Given the description of an element on the screen output the (x, y) to click on. 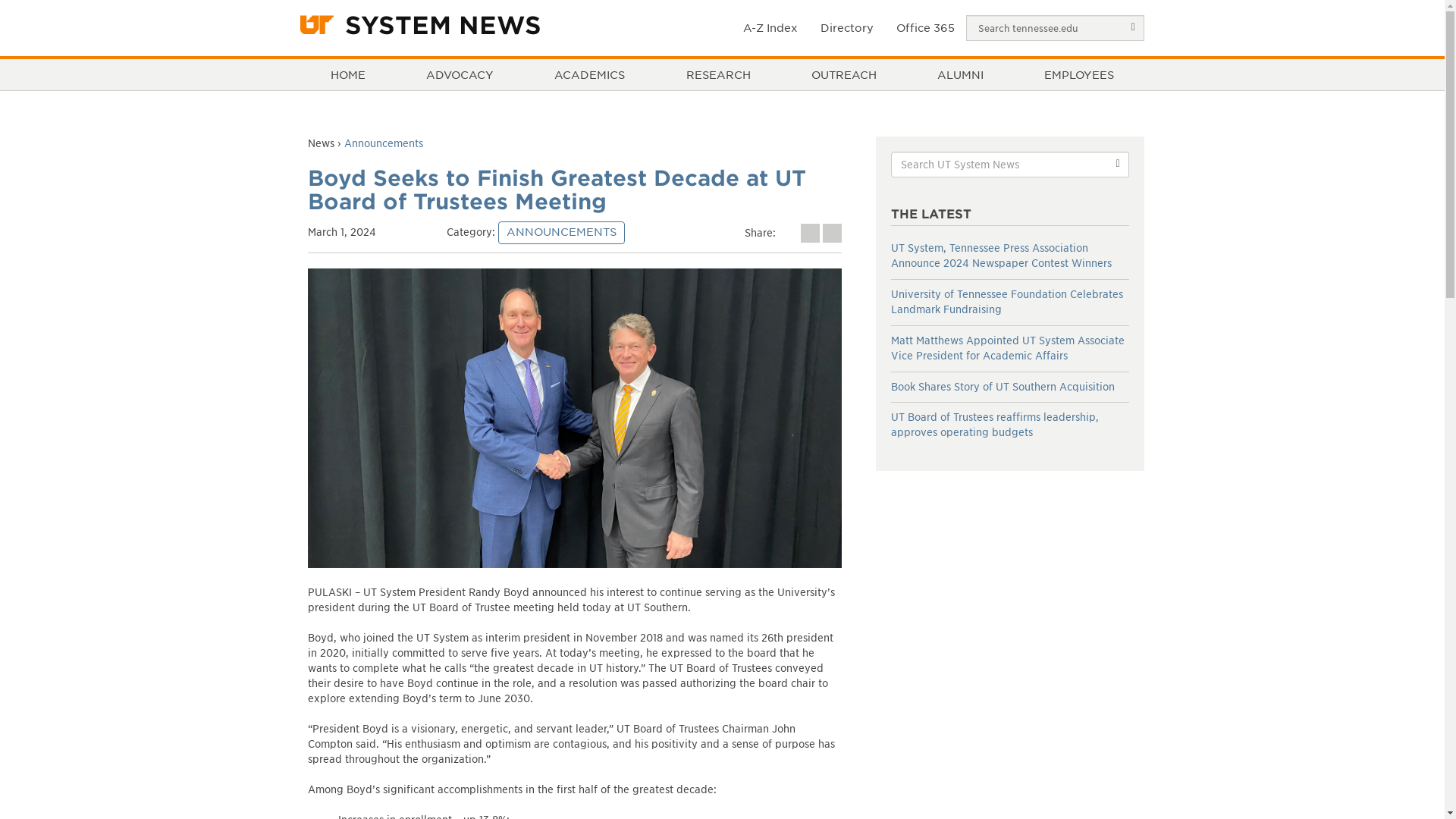
Announcements (383, 143)
OUTREACH (843, 74)
ADVOCACY (460, 74)
Book Shares Story of UT Southern Acquisition (1003, 386)
Directory (847, 27)
Outreach (843, 74)
 Search tennessee.edu (1055, 27)
Alumni (960, 74)
Search for: (1010, 164)
A-Z Index (770, 27)
Advocacy (460, 74)
Employees (1078, 74)
